Given the description of an element on the screen output the (x, y) to click on. 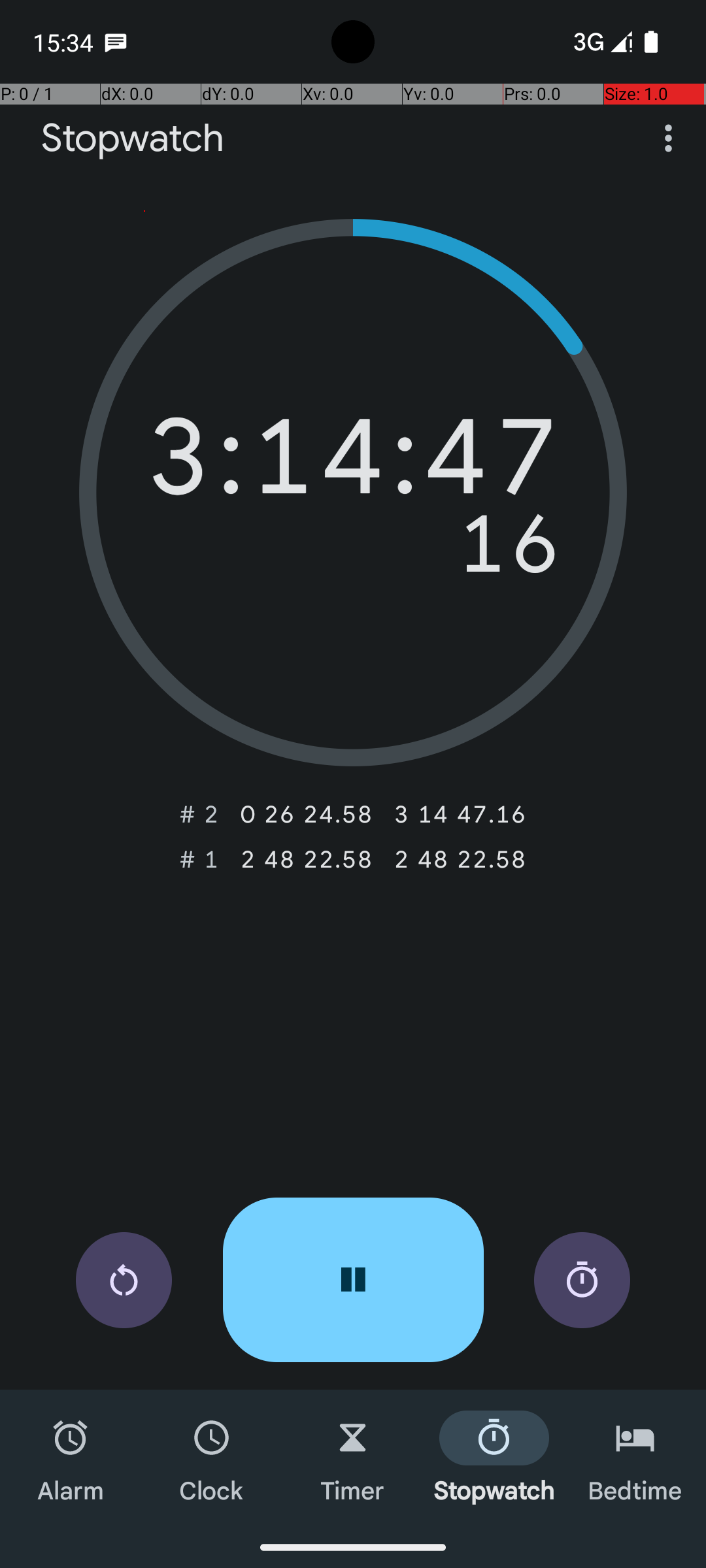
3:14:47 Element type: android.widget.TextView (352, 462)
# 2 Element type: android.widget.TextView (198, 814)
0‎ 26‎ 24.55 Element type: android.widget.TextView (305, 814)
3‎ 14‎ 47.13 Element type: android.widget.TextView (459, 814)
# 1 Element type: android.widget.TextView (198, 859)
2‎ 48‎ 22.58 Element type: android.widget.TextView (305, 859)
